Given the description of an element on the screen output the (x, y) to click on. 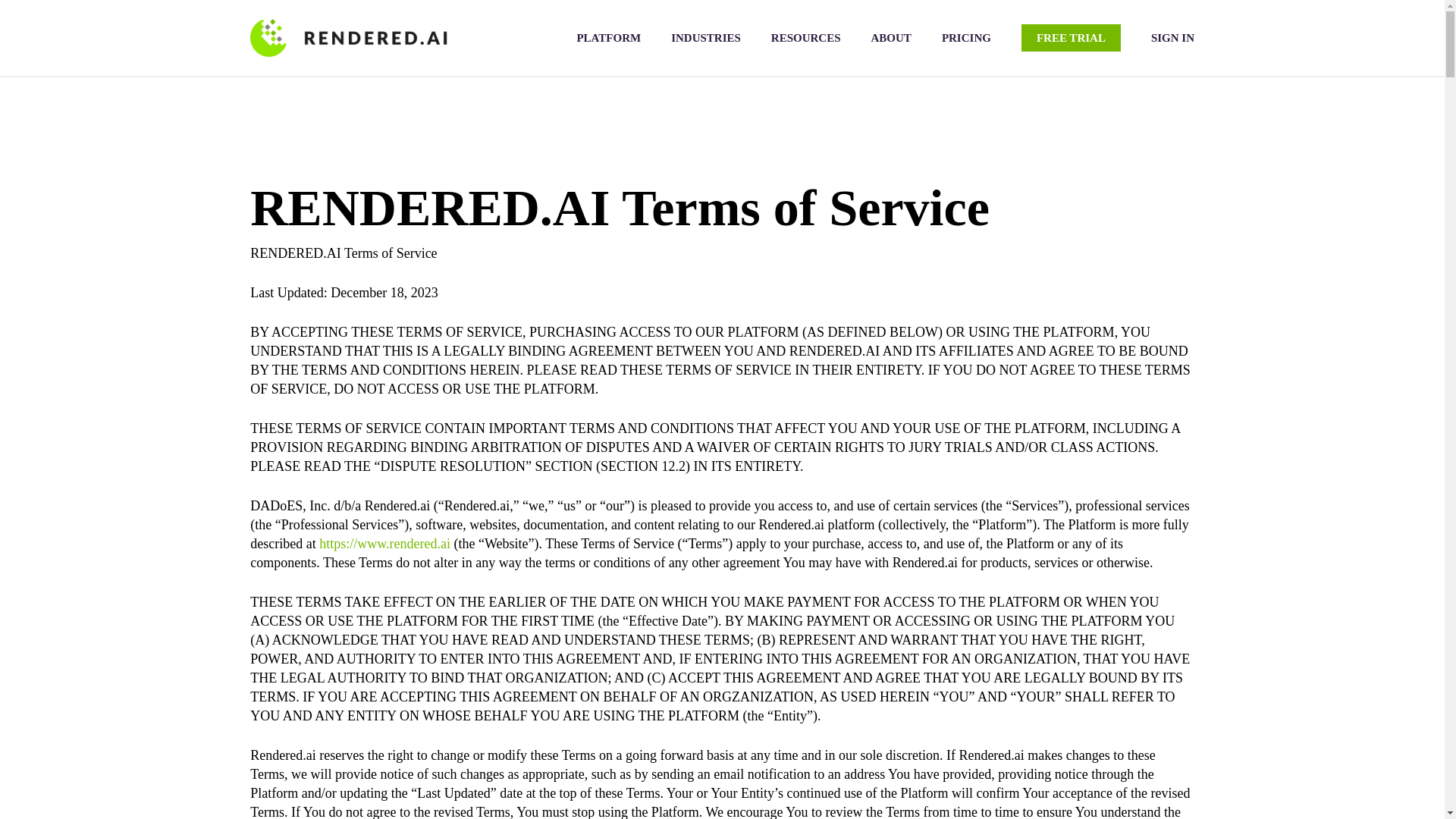
PLATFORM (608, 37)
PRICING (966, 37)
FREE TRIAL (1071, 37)
SIGN IN (1172, 37)
RESOURCES (806, 37)
ABOUT (890, 37)
INDUSTRIES (706, 37)
